Given the description of an element on the screen output the (x, y) to click on. 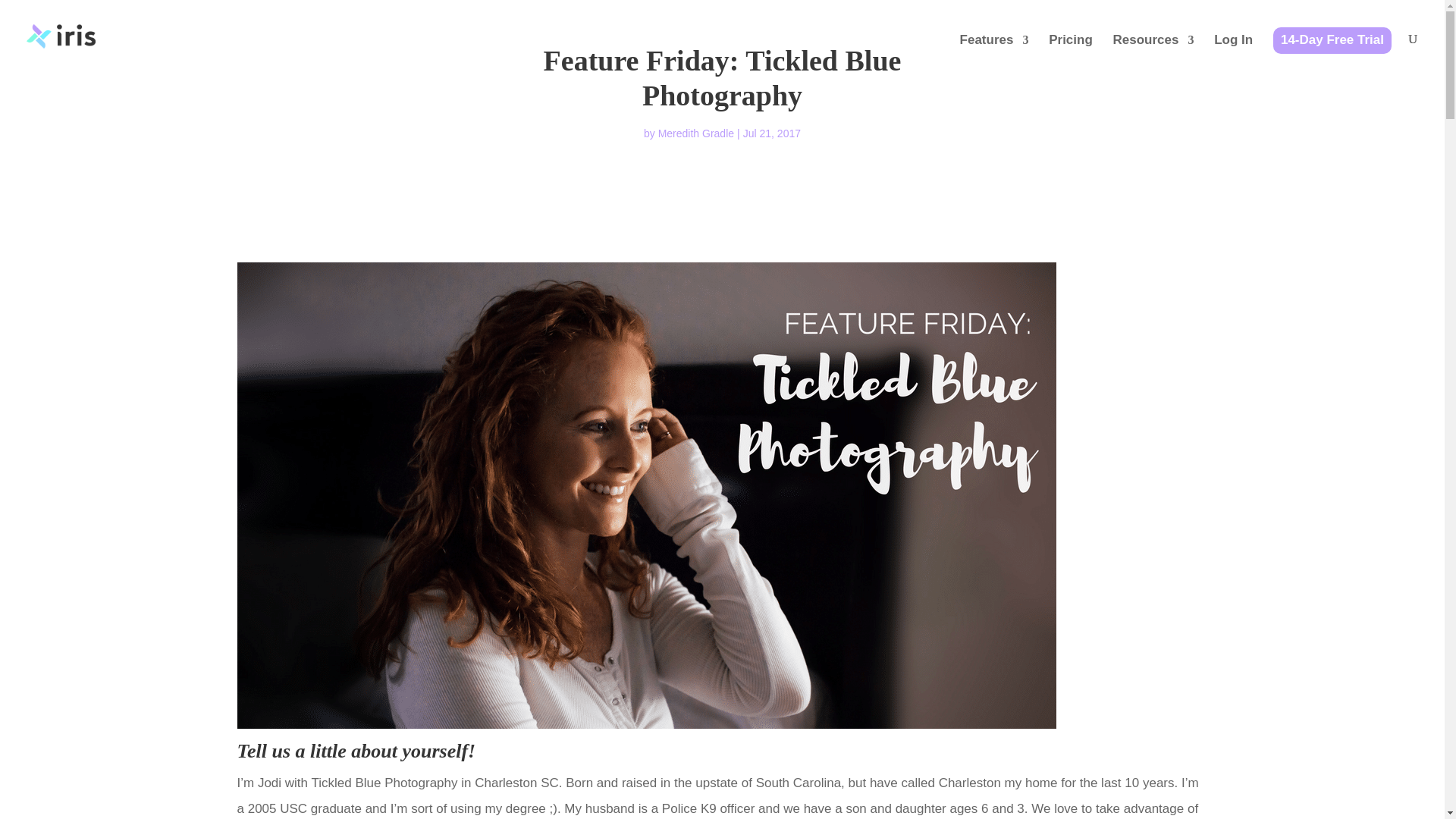
Features (994, 53)
Pricing (1070, 53)
Meredith Gradle (695, 133)
Log In (1233, 53)
14-Day Free Trial (1332, 53)
Resources (1153, 53)
Posts by Meredith Gradle (695, 133)
